Given the description of an element on the screen output the (x, y) to click on. 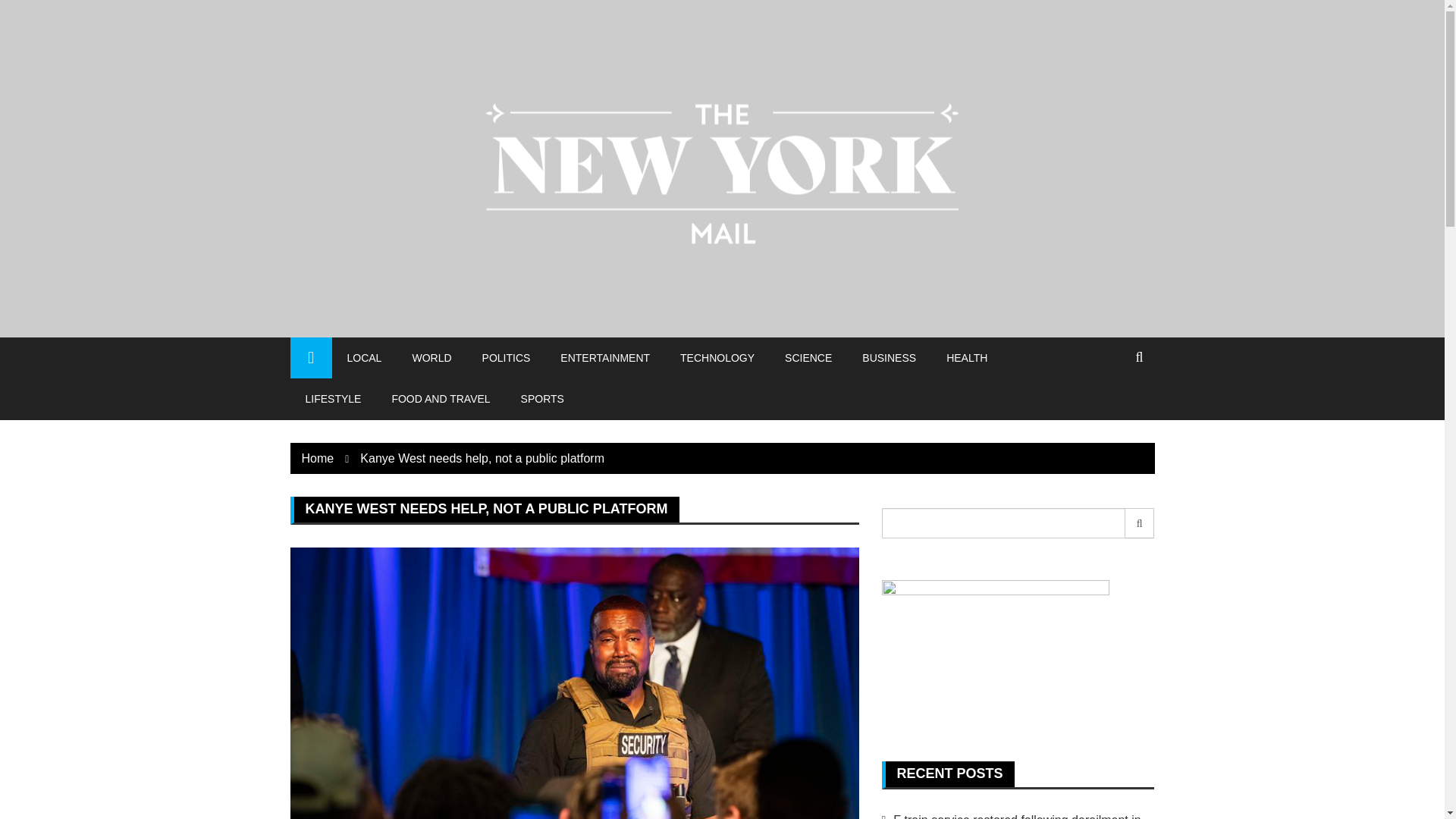
BUSINESS (889, 357)
FOOD AND TRAVEL (440, 398)
TECHNOLOGY (717, 357)
POLITICS (506, 357)
LIFESTYLE (332, 398)
HEALTH (967, 357)
SCIENCE (808, 357)
WORLD (430, 357)
Search (1139, 522)
